Given the description of an element on the screen output the (x, y) to click on. 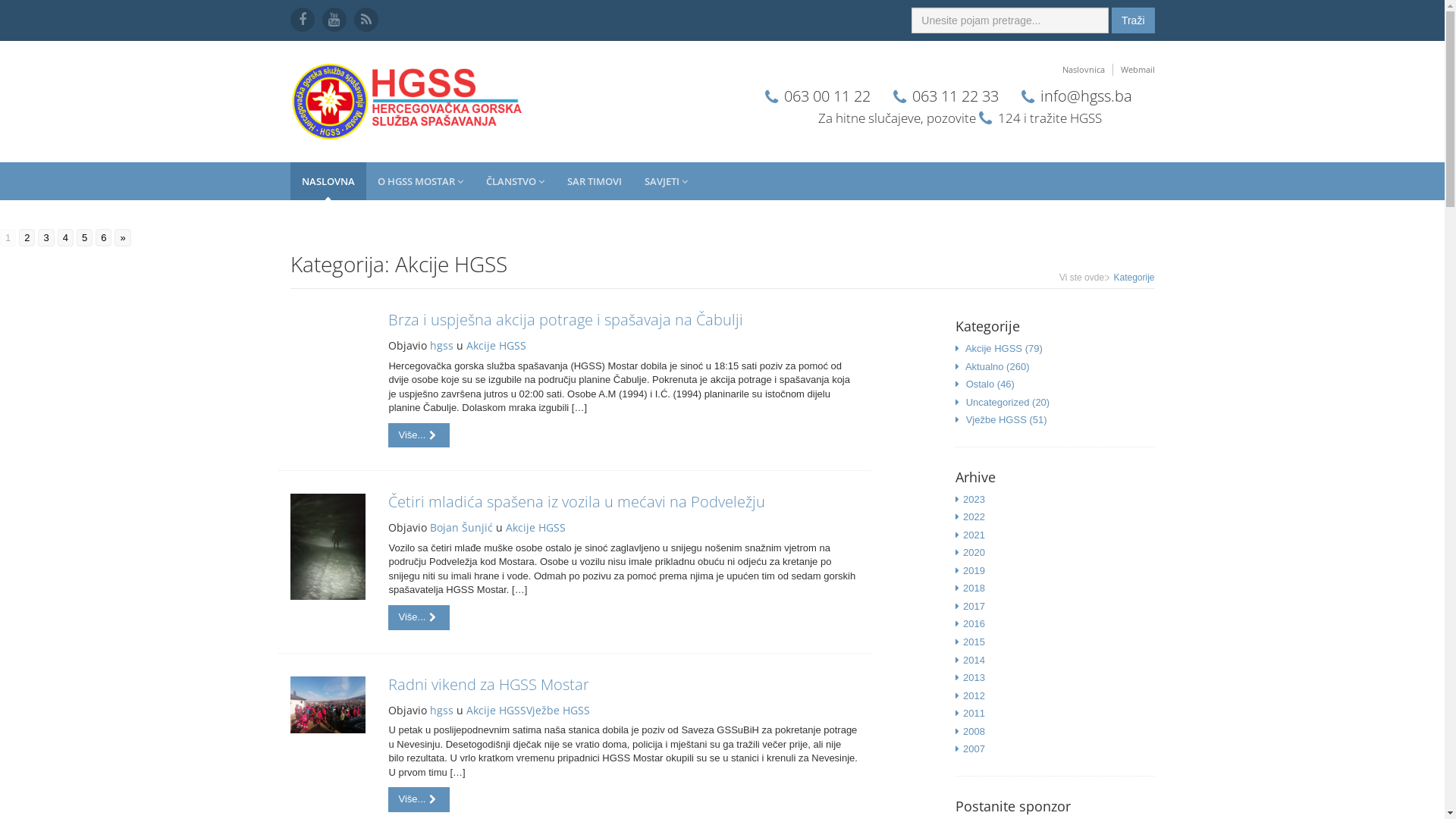
2023 Element type: text (974, 499)
Ostalo (46) Element type: text (990, 383)
2013 Element type: text (974, 677)
2011 Element type: text (974, 712)
SAR TIMOVI Element type: text (593, 181)
Webmail Element type: text (1133, 69)
O HGSS MOSTAR Element type: text (419, 181)
2021 Element type: text (974, 534)
2019 Element type: text (974, 570)
2018 Element type: text (974, 587)
Naslovnica Element type: text (1083, 69)
2016 Element type: text (974, 623)
Akcije HGSS Element type: text (535, 527)
hgss Element type: text (441, 345)
Uncategorized (20) Element type: text (1008, 401)
2017 Element type: text (974, 605)
5 Element type: text (84, 237)
2 Element type: text (26, 237)
4 Element type: text (65, 237)
6 Element type: text (103, 237)
2012 Element type: text (974, 695)
2008 Element type: text (974, 731)
2007 Element type: text (974, 748)
SAVJETI Element type: text (665, 181)
NASLOVNA Element type: text (327, 181)
2015 Element type: text (974, 641)
2020 Element type: text (974, 552)
Aktualno (260) Element type: text (997, 366)
2022 Element type: text (974, 516)
Akcije HGSS (79) Element type: text (1003, 348)
Radni vikend za HGSS Mostar Element type: text (488, 684)
Akcije HGSS Element type: text (496, 345)
hgss Element type: text (441, 709)
3 Element type: text (45, 237)
2014 Element type: text (974, 659)
